Given the description of an element on the screen output the (x, y) to click on. 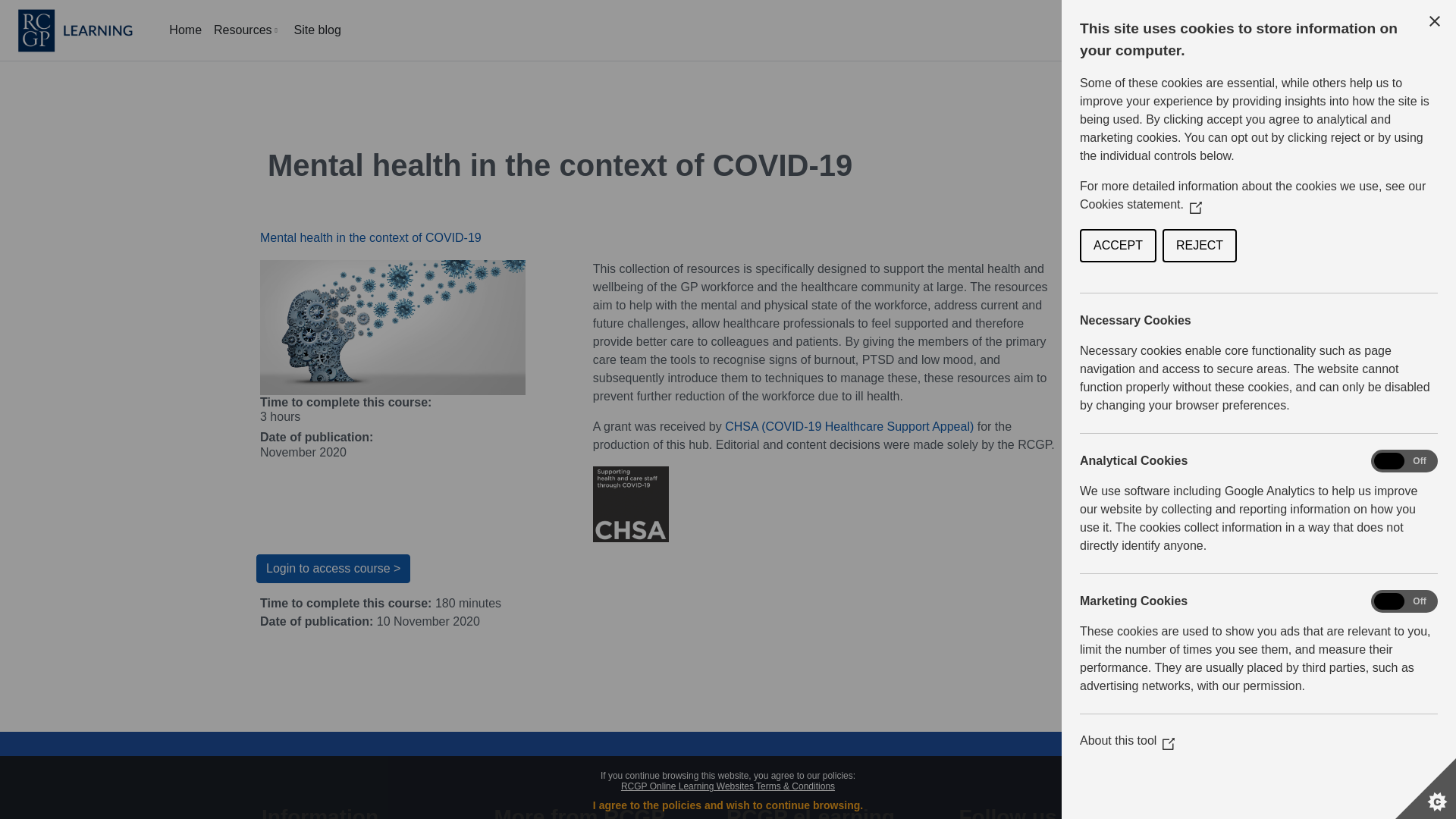
ACCEPT (1388, 245)
CHSA (849, 426)
Site blog (317, 30)
Resources (247, 30)
Log in (1427, 30)
Mental health in the context of COVID-19 (333, 568)
Mental health in the context of COVID-19 (370, 237)
